Given the description of an element on the screen output the (x, y) to click on. 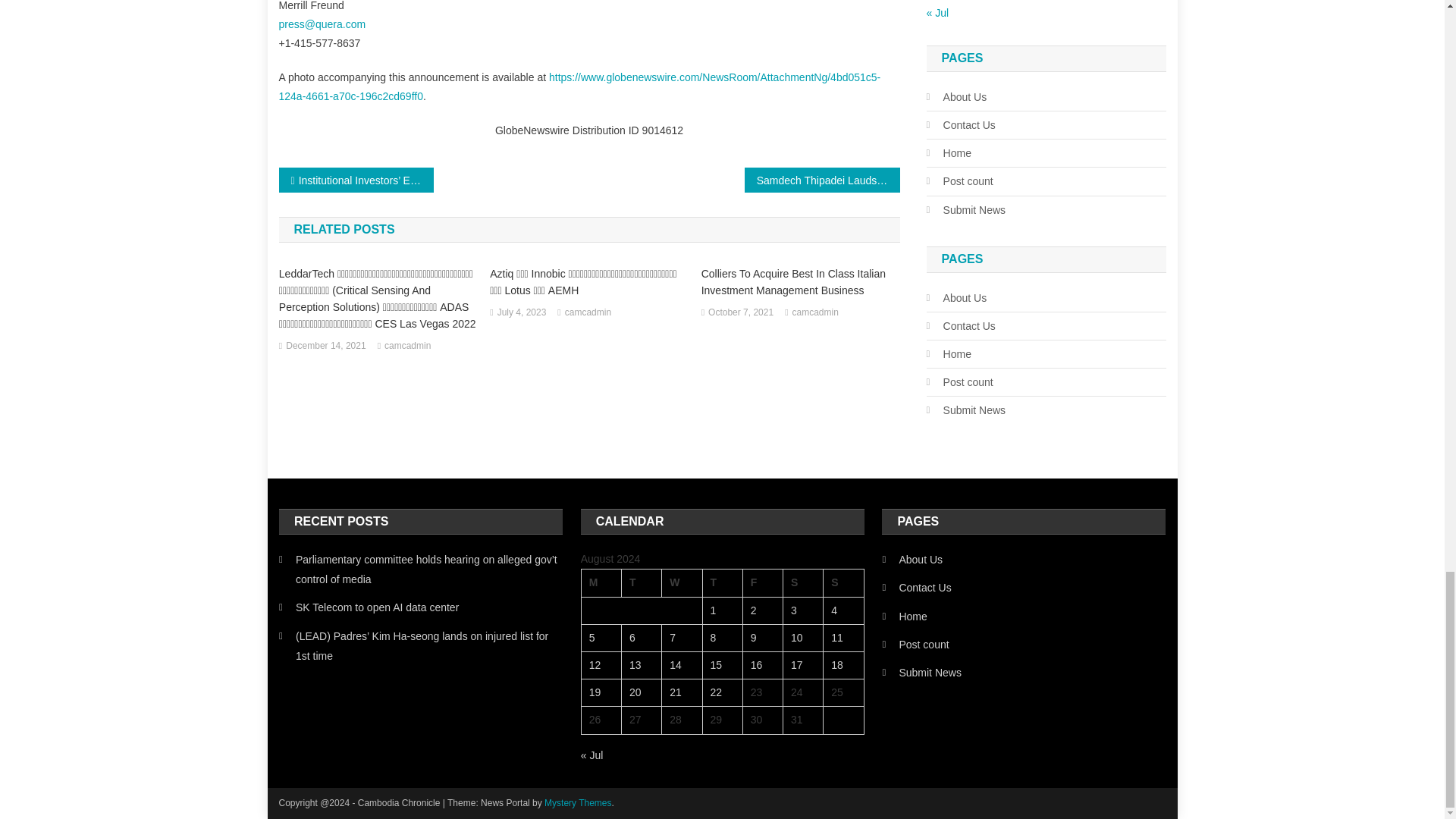
Wednesday (681, 583)
Saturday (803, 583)
camcadmin (815, 312)
Sunday (843, 583)
camcadmin (407, 346)
Friday (762, 583)
Thursday (721, 583)
Samdech Thipadei Lauds Cambodia-Indonesia Cooperation (821, 179)
October 7, 2021 (740, 312)
Tuesday (641, 583)
